Given the description of an element on the screen output the (x, y) to click on. 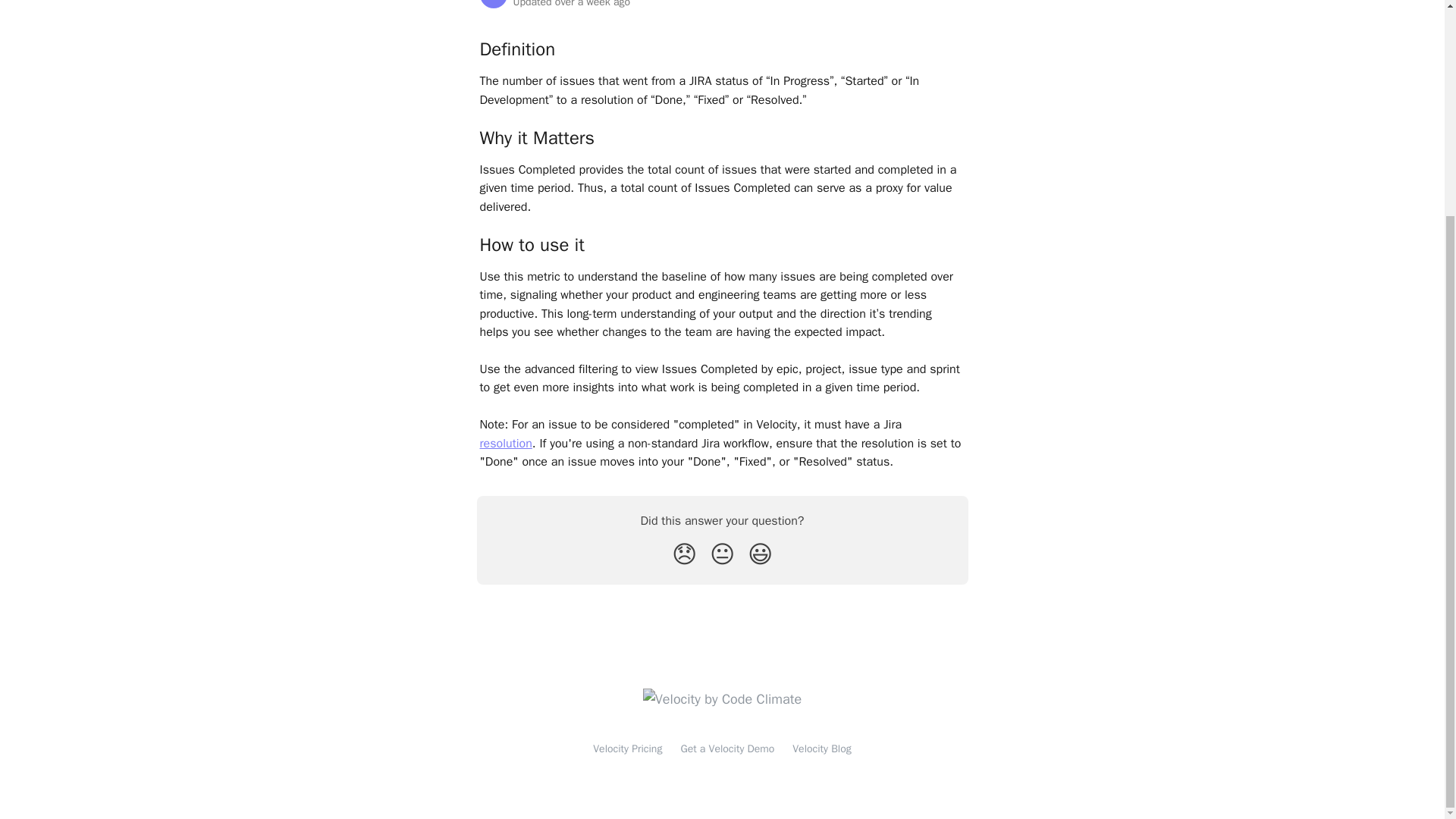
Velocity Blog (821, 748)
Velocity Pricing (627, 748)
Get a Velocity Demo (726, 748)
resolution (505, 443)
